Given the description of an element on the screen output the (x, y) to click on. 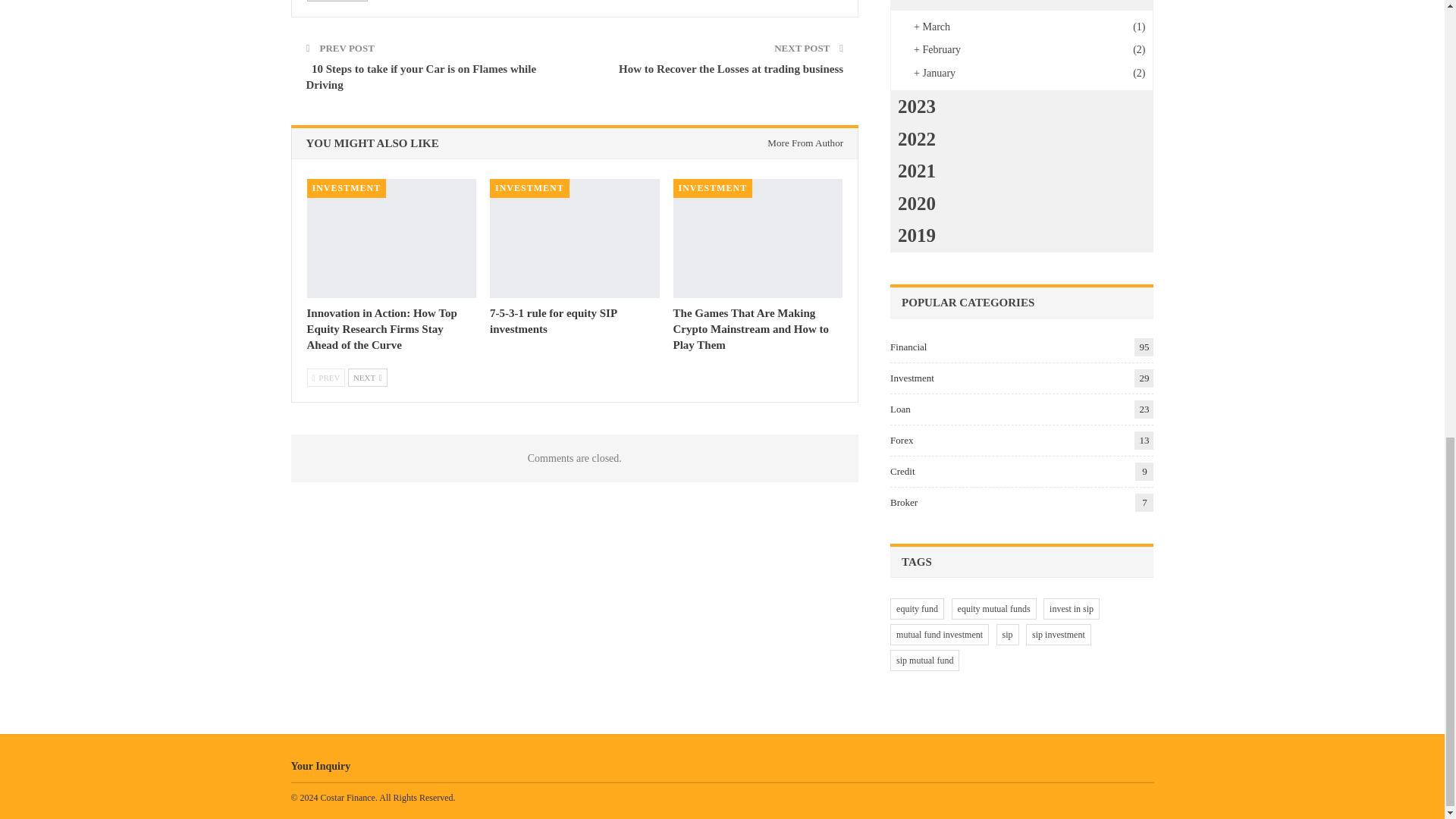
Next (367, 377)
7-5-3-1 rule for equity SIP investments (552, 320)
7-5-3-1 rule for equity SIP investments (574, 238)
  10 Steps to take if your Car is on Flames while Driving (421, 76)
Previous (325, 377)
How to Recover the Losses at trading business (730, 69)
